Given the description of an element on the screen output the (x, y) to click on. 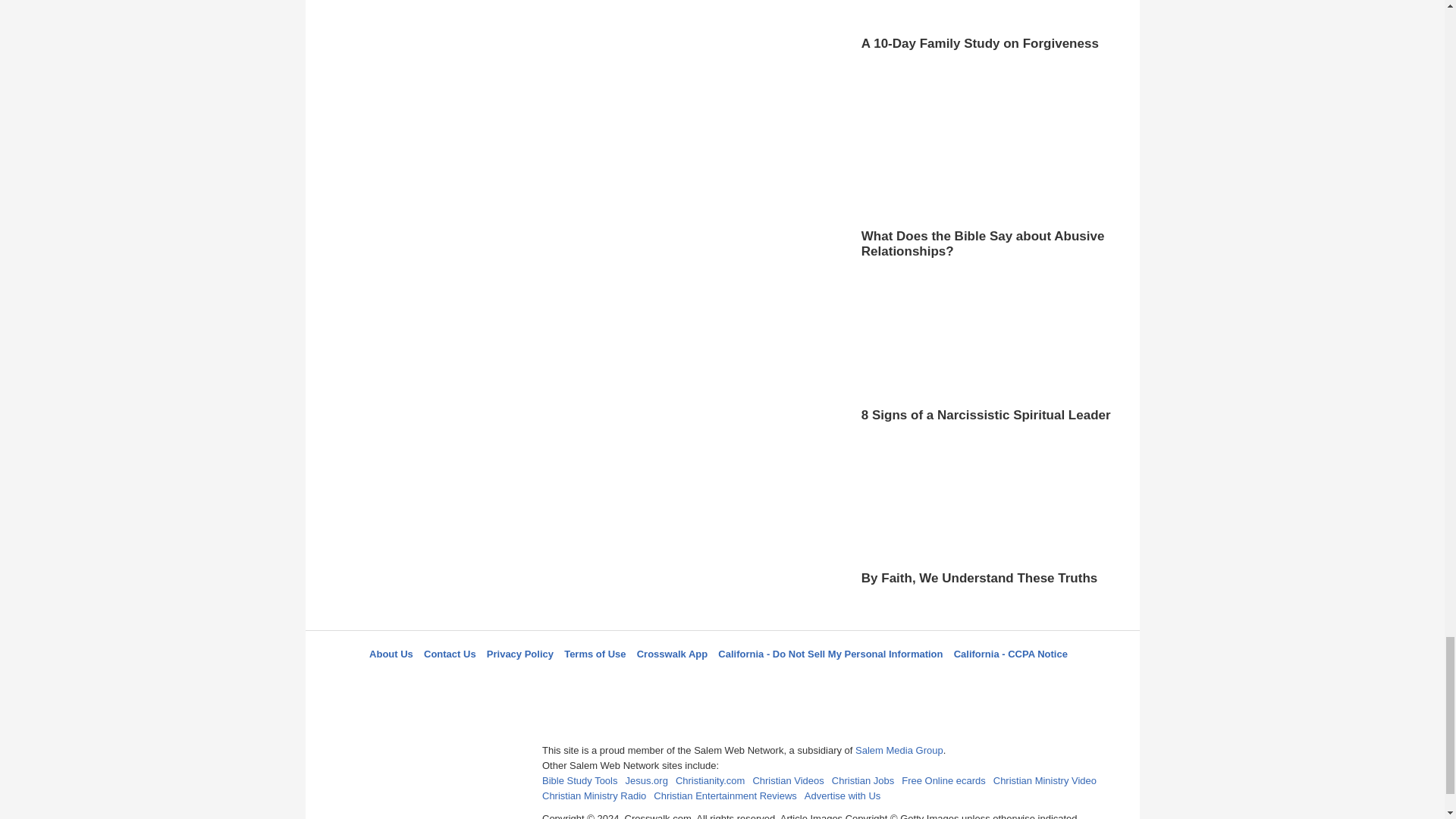
Pinterest (757, 681)
Facebook (645, 681)
LifeAudio (719, 681)
YouTube (795, 681)
Twitter (683, 681)
